Given the description of an element on the screen output the (x, y) to click on. 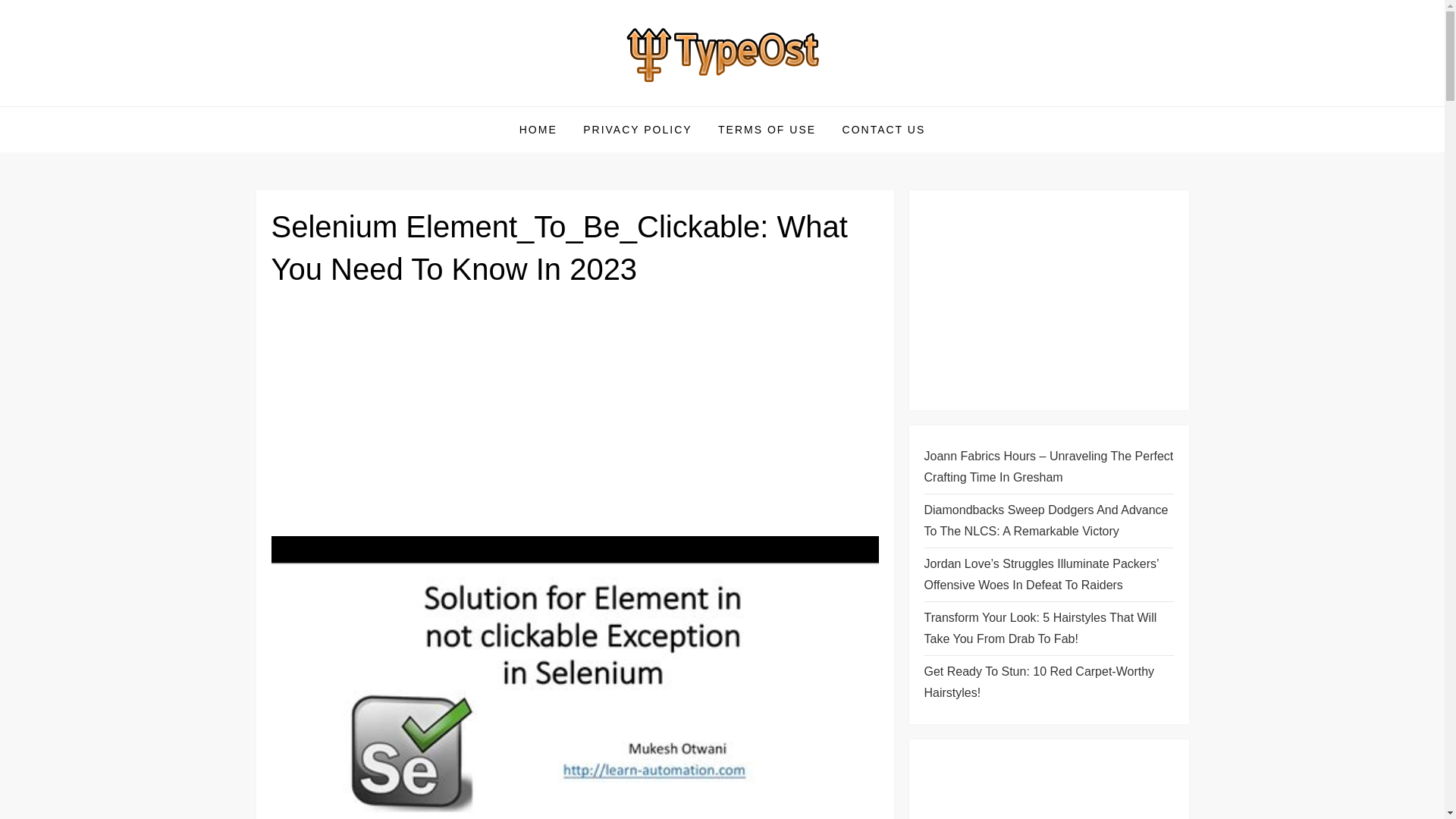
TypeOst (312, 105)
Advertisement (574, 418)
HOME (538, 129)
Get Ready To Stun: 10 Red Carpet-Worthy Hairstyles! (1048, 681)
Advertisement (1037, 786)
PRIVACY POLICY (637, 129)
Advertisement (1048, 299)
TERMS OF USE (766, 129)
CONTACT US (884, 129)
